Given the description of an element on the screen output the (x, y) to click on. 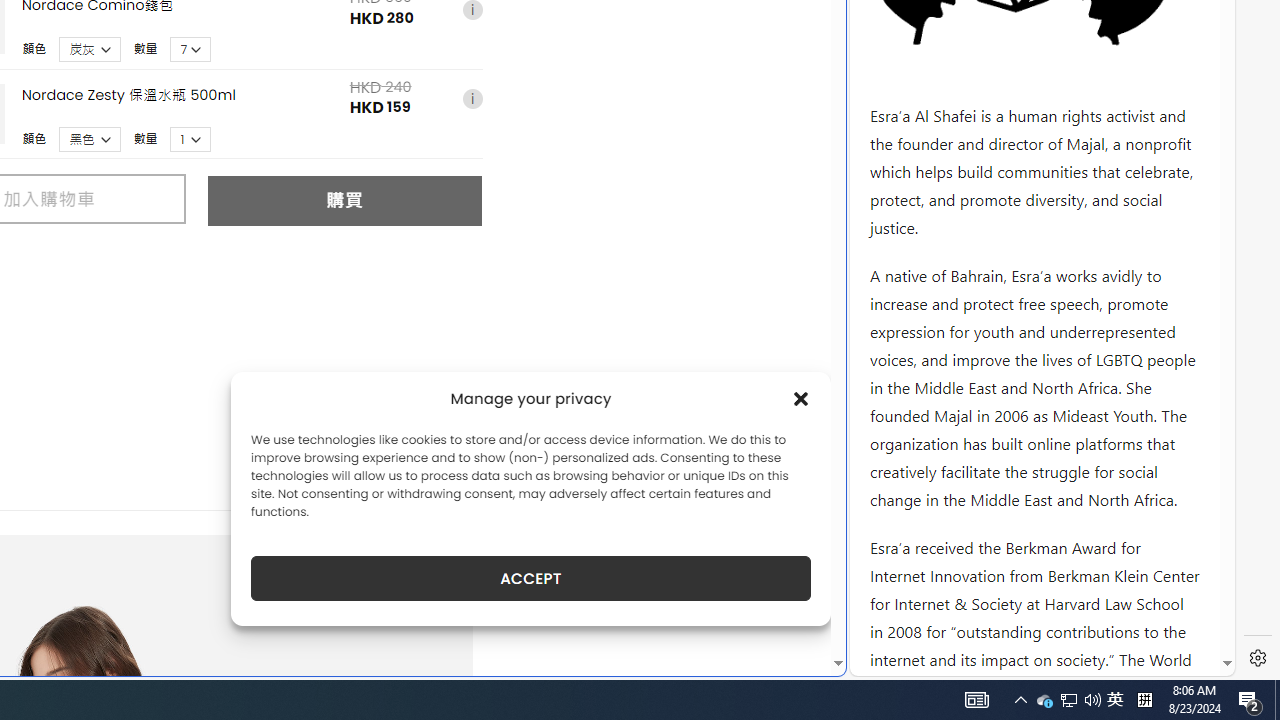
Global web icon (888, 663)
